Given the description of an element on the screen output the (x, y) to click on. 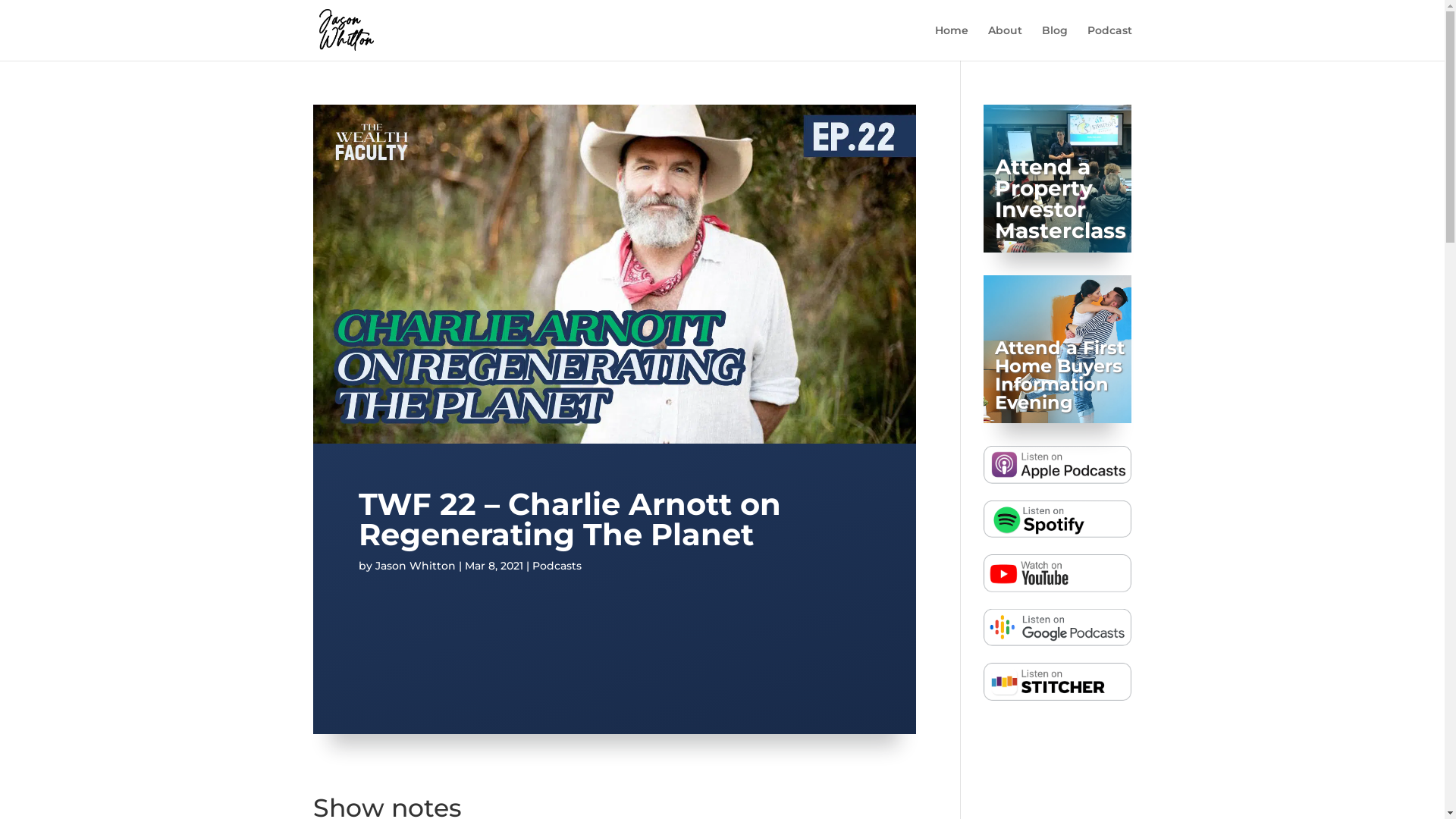
Charlie Arnott on Regenerating The Planet Element type: hover (613, 635)
Podcasts Element type: text (556, 565)
About Element type: text (1004, 42)
Jason Whitton Element type: text (414, 565)
Blog Element type: text (1054, 42)
The-Wealth-Faculty-Thumbnails-Episode_22 Element type: hover (613, 439)
Home Element type: text (950, 42)
Attend a First Home Buyers Information Evening Element type: text (1059, 374)
Attend a
Property
Investor Masterclass Element type: text (1060, 198)
Podcast Element type: text (1109, 42)
